Given the description of an element on the screen output the (x, y) to click on. 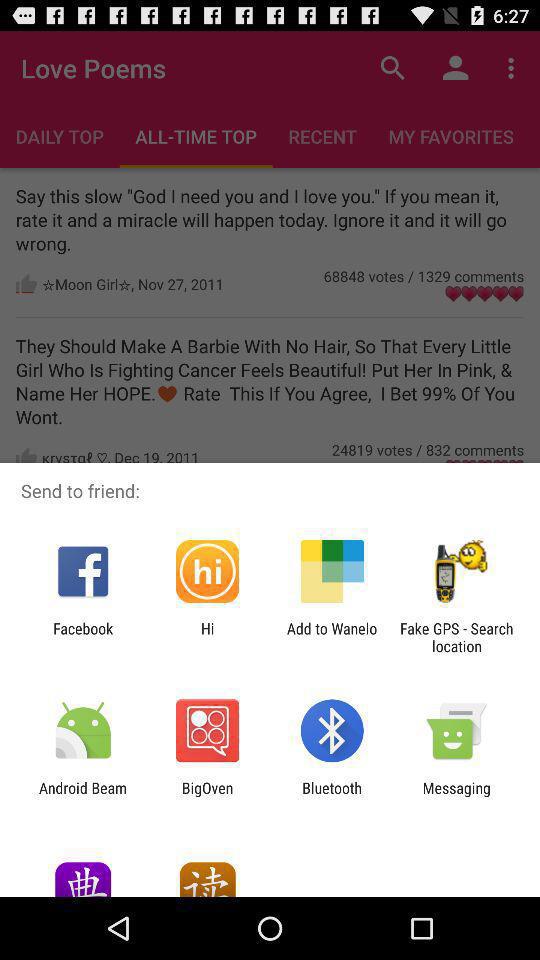
turn on item next to add to wanelo app (207, 637)
